Given the description of an element on the screen output the (x, y) to click on. 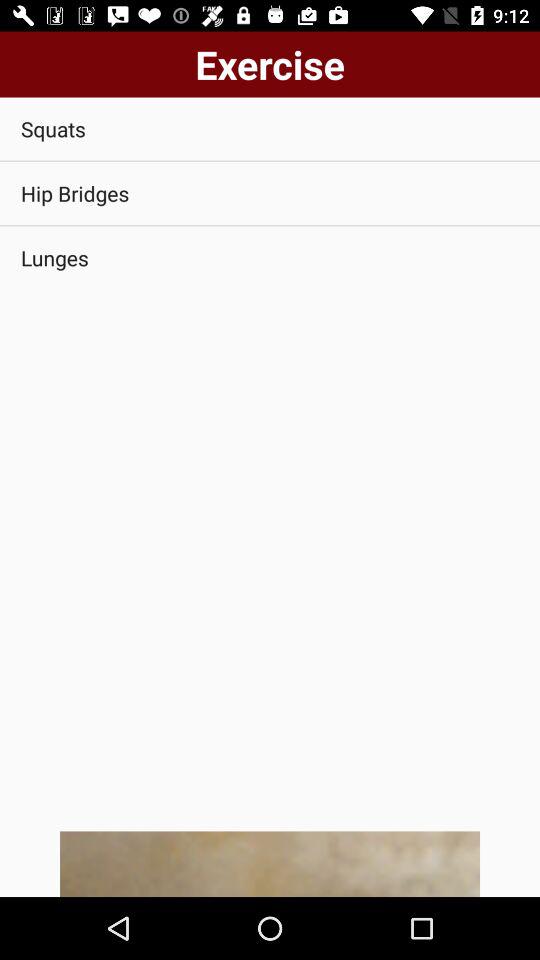
select the hip bridges app (270, 193)
